Given the description of an element on the screen output the (x, y) to click on. 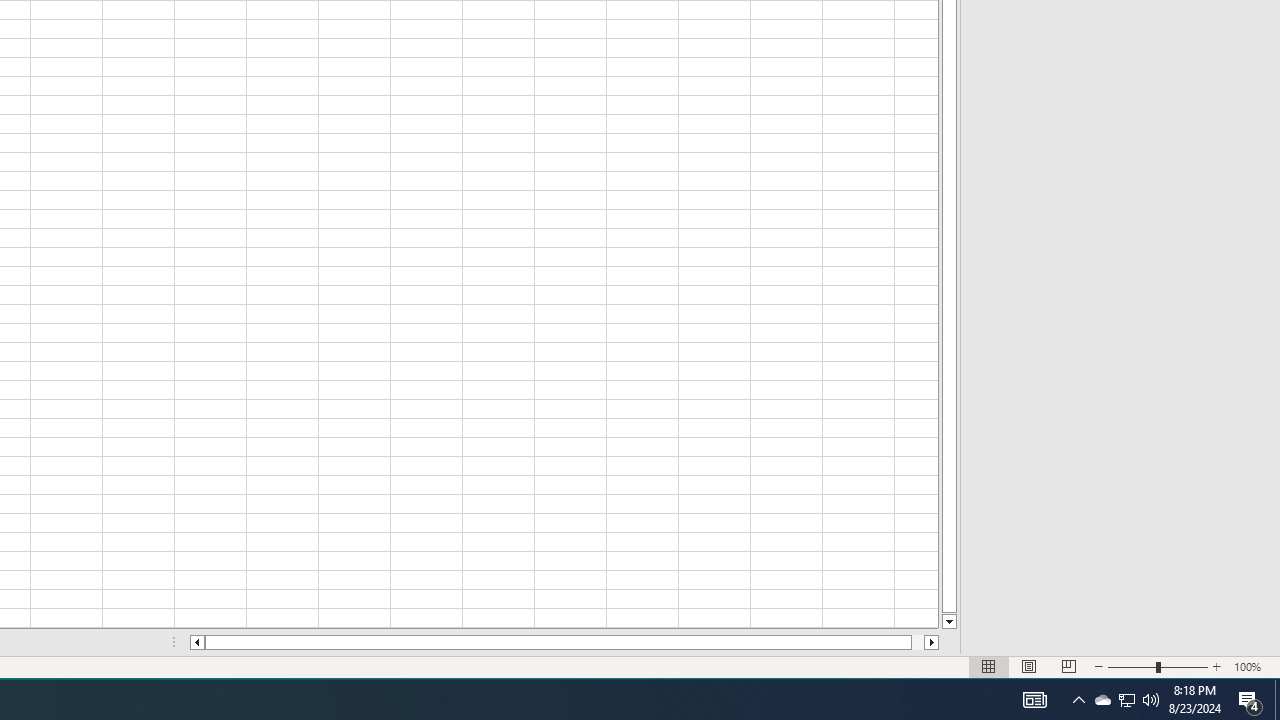
Action Center, 4 new notifications (1126, 699)
